Given the description of an element on the screen output the (x, y) to click on. 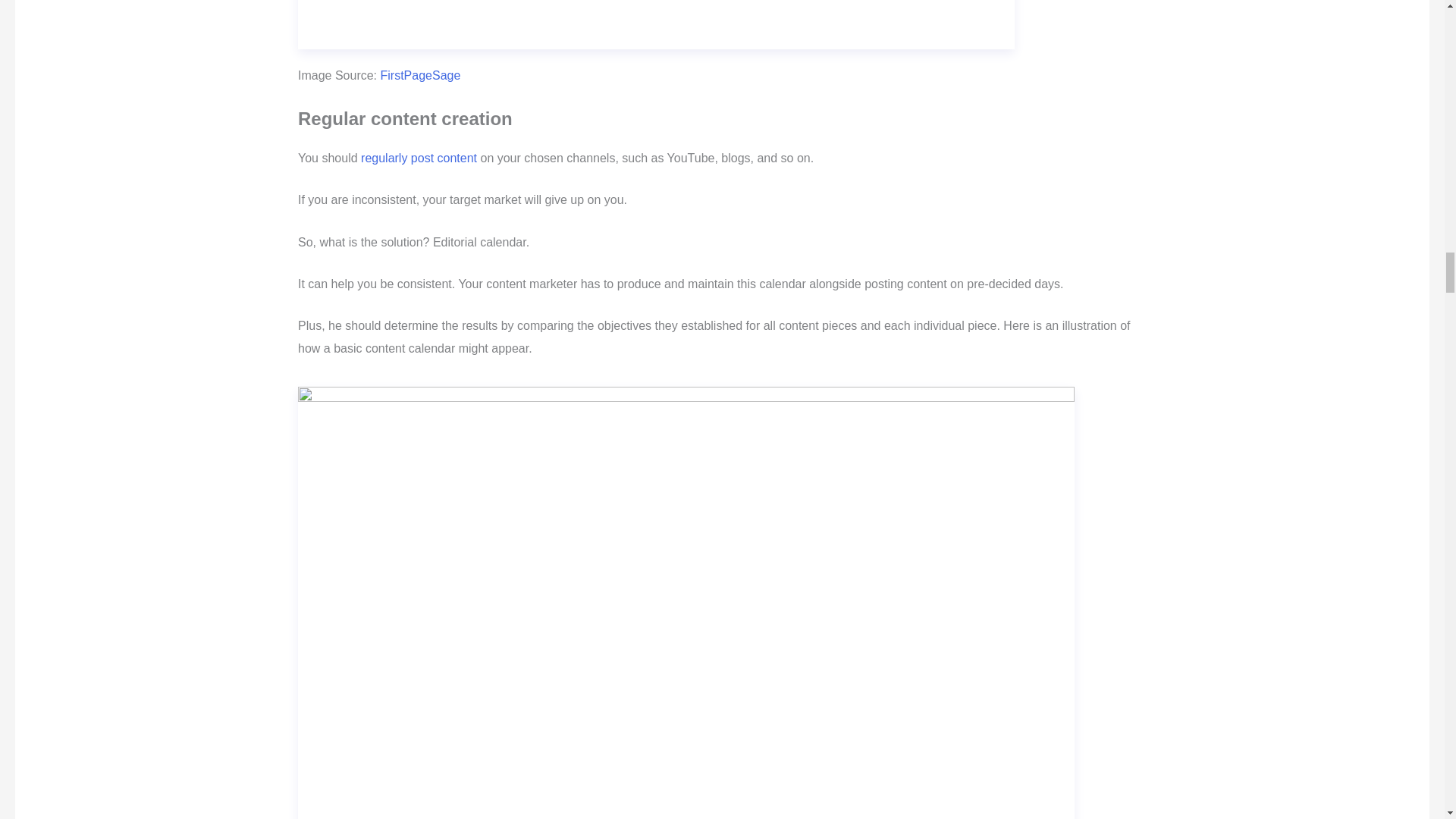
content-marketing-metrics (656, 24)
